Given the description of an element on the screen output the (x, y) to click on. 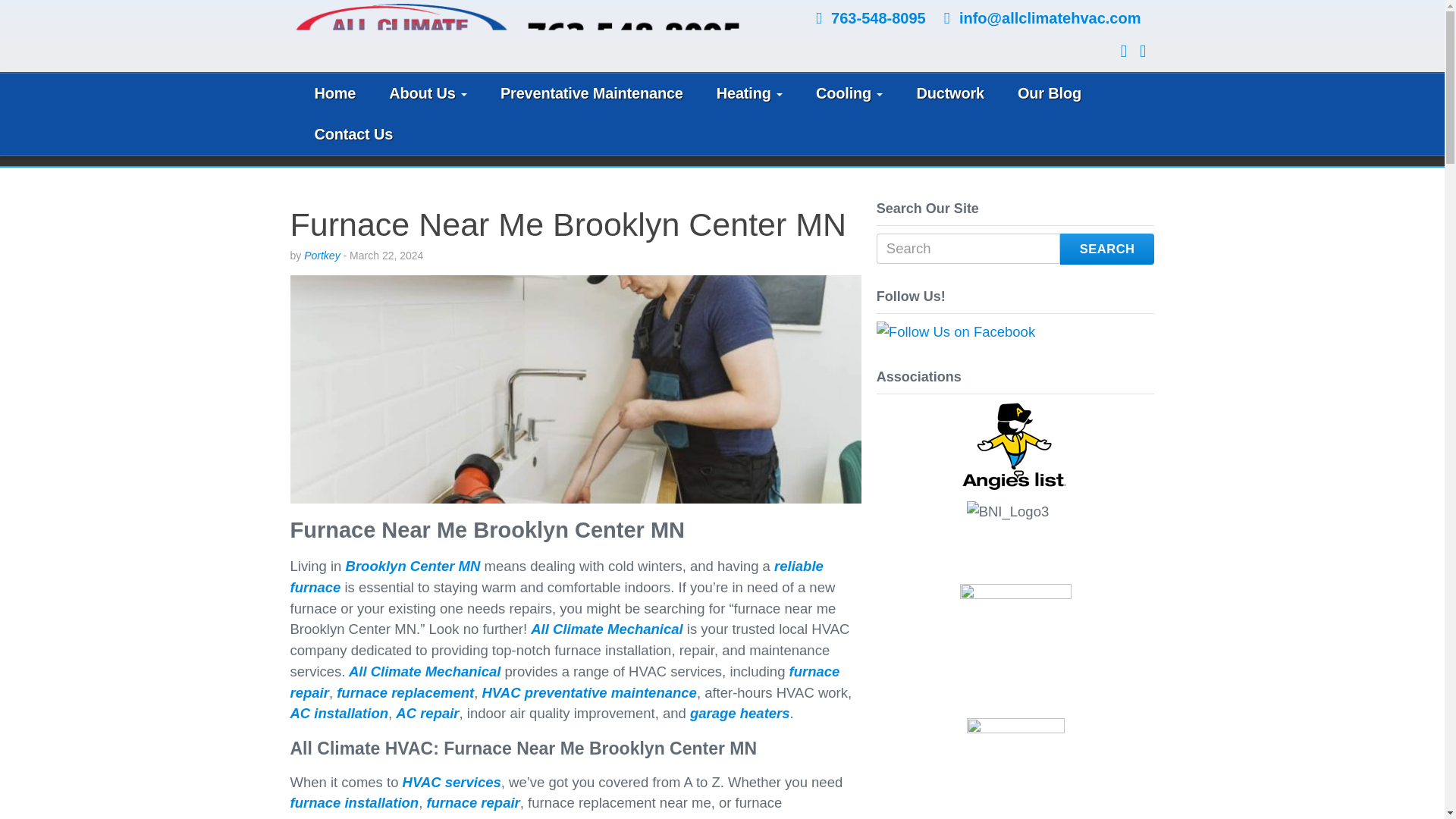
Heating (749, 93)
Home (334, 93)
Preventative Maintenance (591, 93)
763-548-8095 (878, 17)
About Us (427, 93)
Preventative Maintenance (591, 93)
Home (334, 93)
Heating (749, 93)
About Us (427, 93)
